Given the description of an element on the screen output the (x, y) to click on. 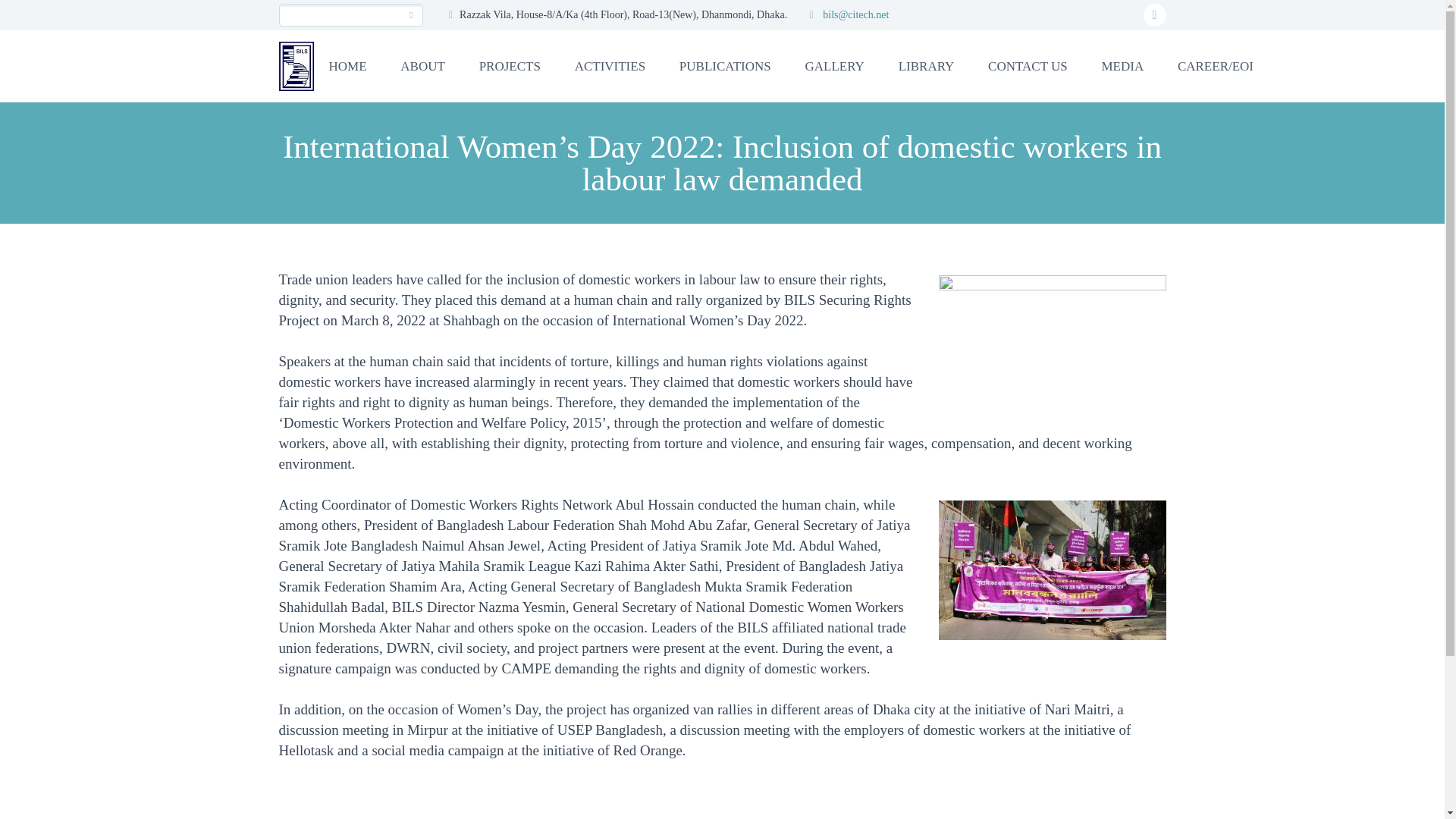
facebook (1154, 15)
Search (411, 15)
ABOUT (422, 65)
HOME (347, 65)
ACTIVITIES (610, 65)
PUBLICATIONS (724, 65)
PROJECTS (510, 65)
facebook (1154, 15)
